Given the description of an element on the screen output the (x, y) to click on. 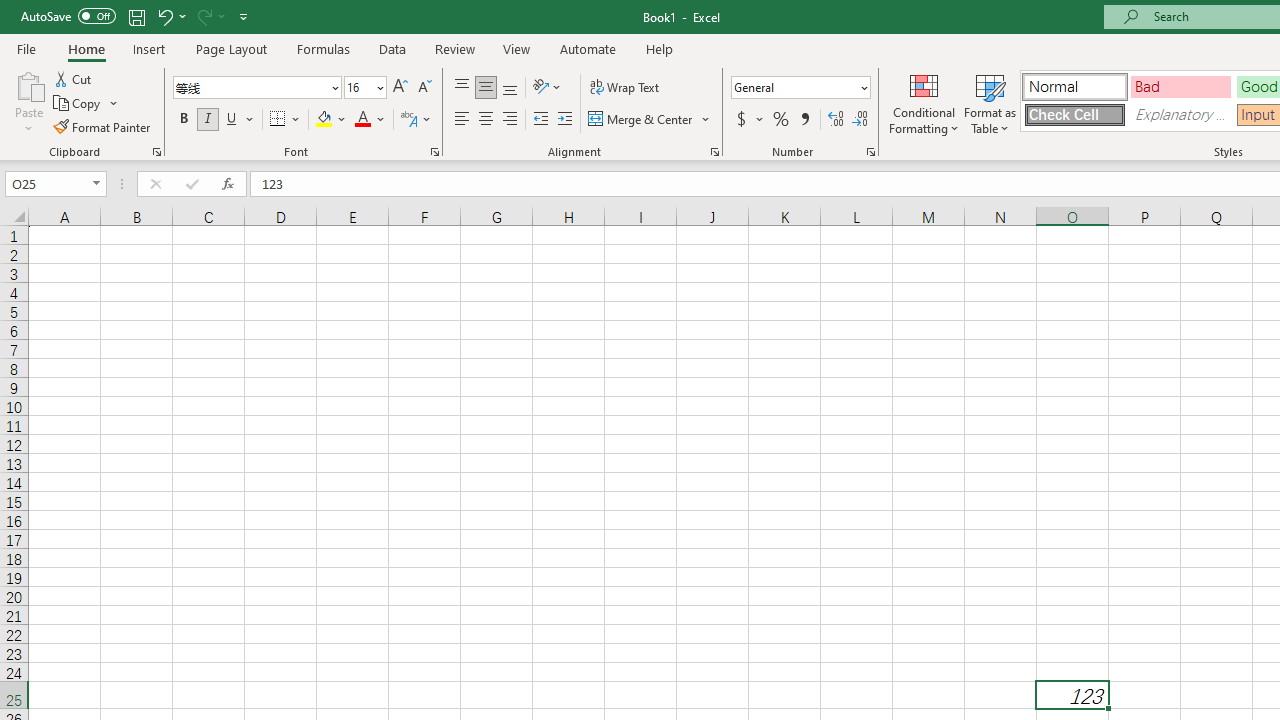
Number Format (800, 87)
Font Color RGB(255, 0, 0) (362, 119)
Merge & Center (641, 119)
Formulas (323, 48)
Review (454, 48)
Decrease Font Size (424, 87)
Percent Style (781, 119)
Wrap Text (624, 87)
Increase Decimal (836, 119)
Fill Color RGB(255, 255, 0) (324, 119)
Format as Table (990, 102)
Merge & Center (649, 119)
Cut (73, 78)
Increase Indent (565, 119)
Format Cell Alignment (714, 151)
